Given the description of an element on the screen output the (x, y) to click on. 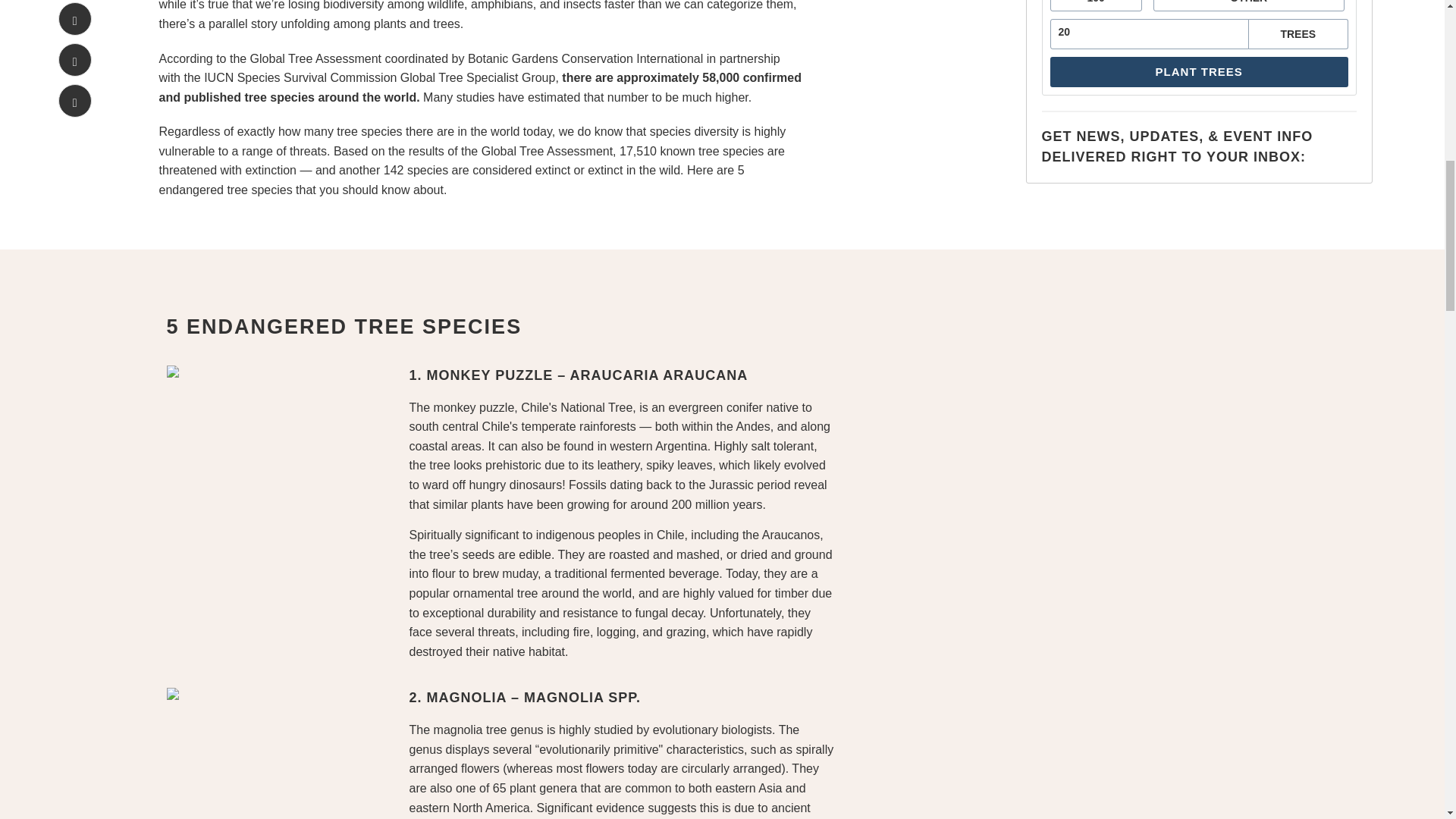
20 (1149, 32)
